Given the description of an element on the screen output the (x, y) to click on. 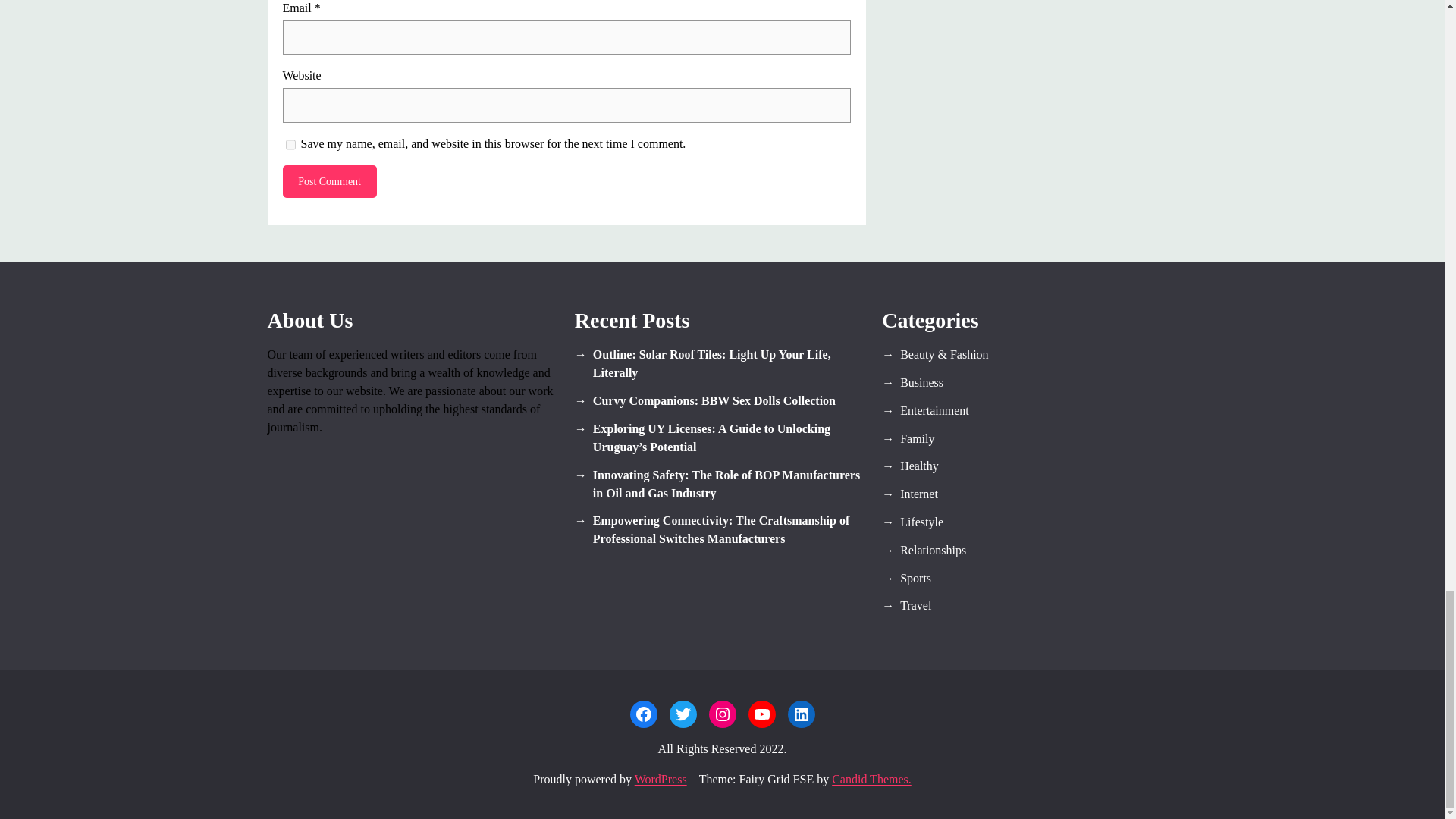
Post Comment (328, 182)
Outline: Solar Roof Tiles: Light Up Your Life, Literally (722, 363)
Curvy Companions: BBW Sex Dolls Collection (722, 401)
Post Comment (328, 182)
